Given the description of an element on the screen output the (x, y) to click on. 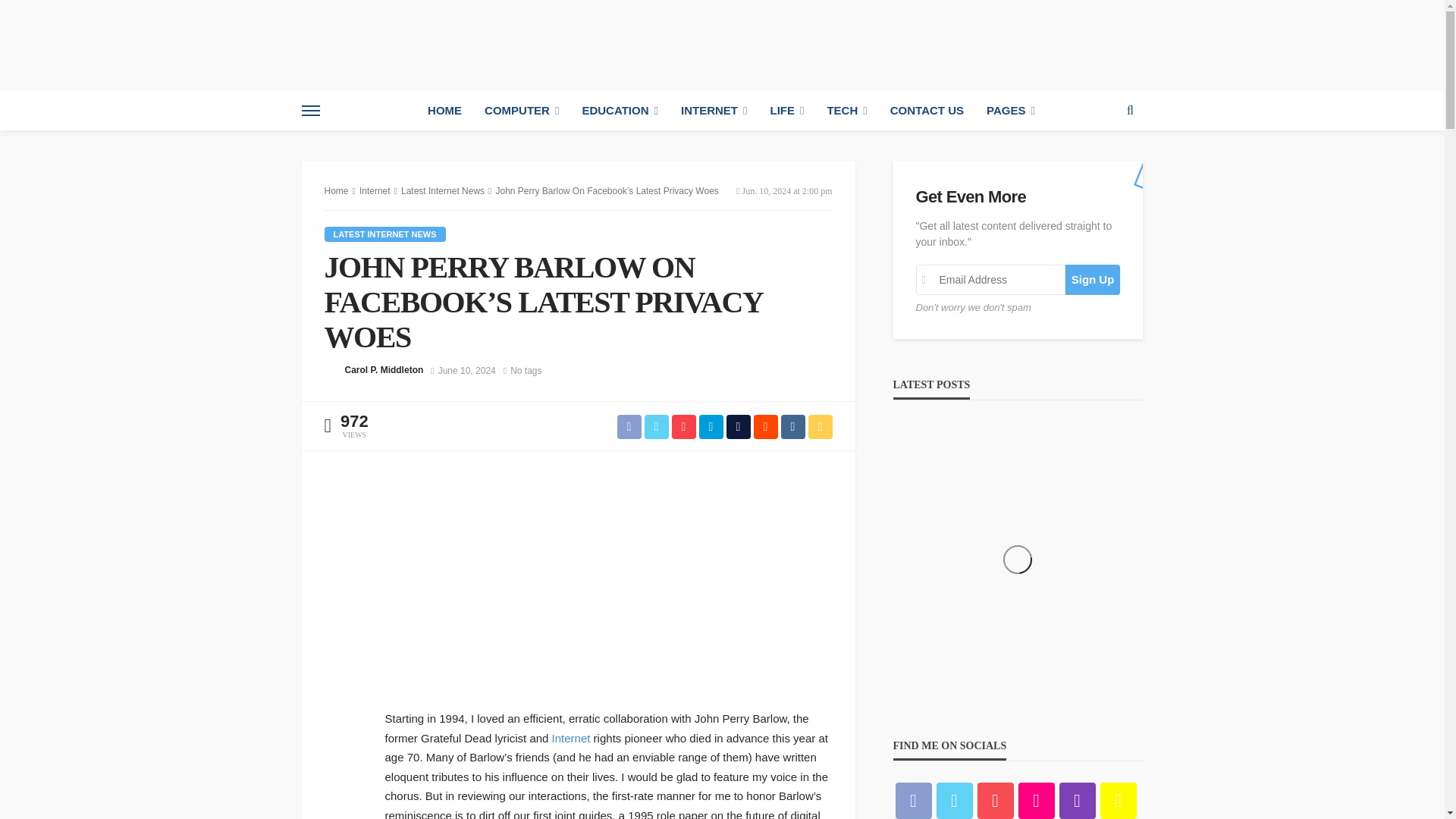
HOME (444, 110)
Sign up (1093, 279)
INTERNET (713, 110)
Latest Internet News (384, 233)
LIFE (786, 110)
Livingtired (407, 45)
COMPUTER (521, 110)
EDUCATION (619, 110)
